Given the description of an element on the screen output the (x, y) to click on. 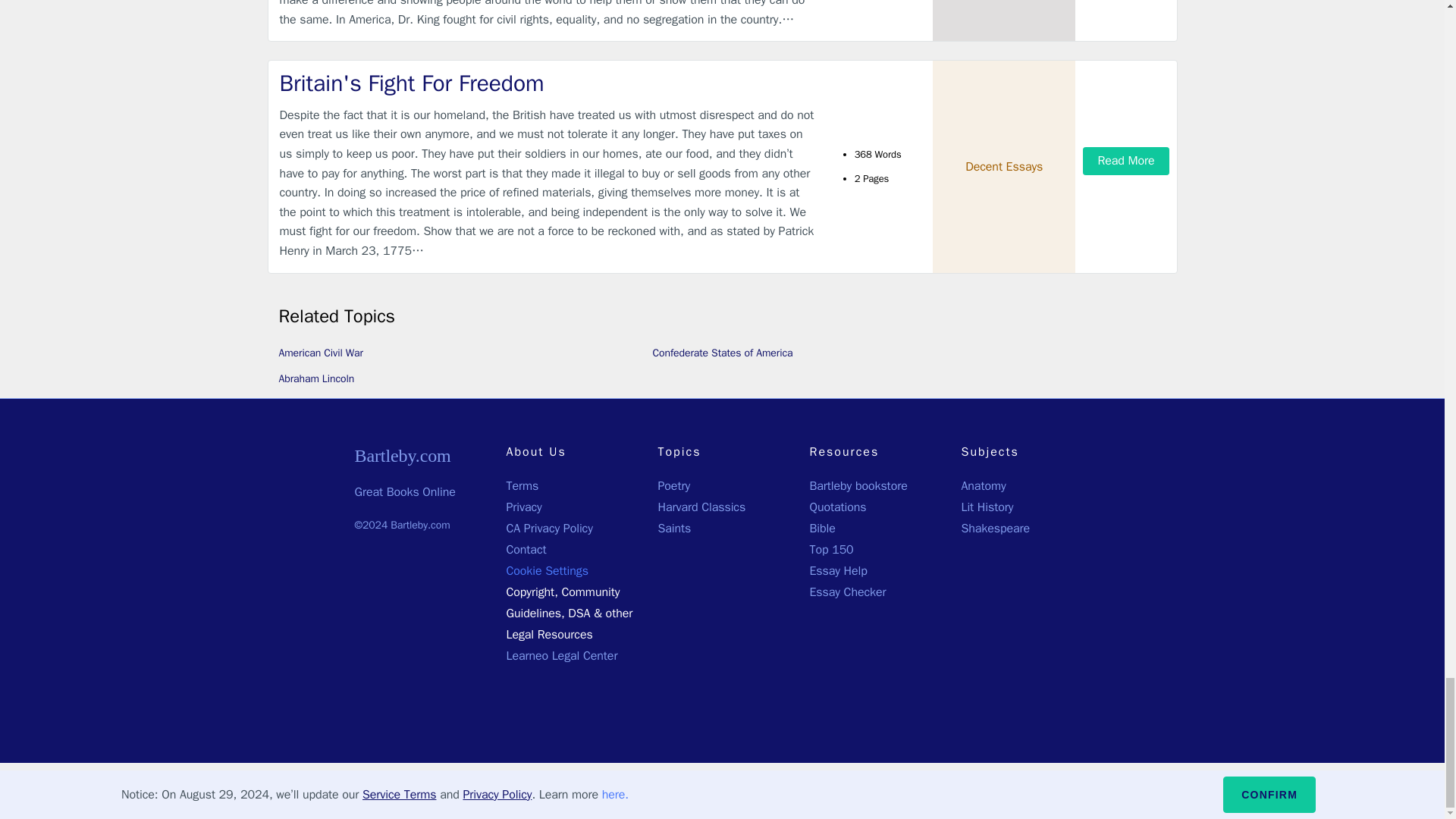
Abraham Lincoln (317, 377)
Confederate States of America (722, 351)
American Civil War (320, 351)
